Given the description of an element on the screen output the (x, y) to click on. 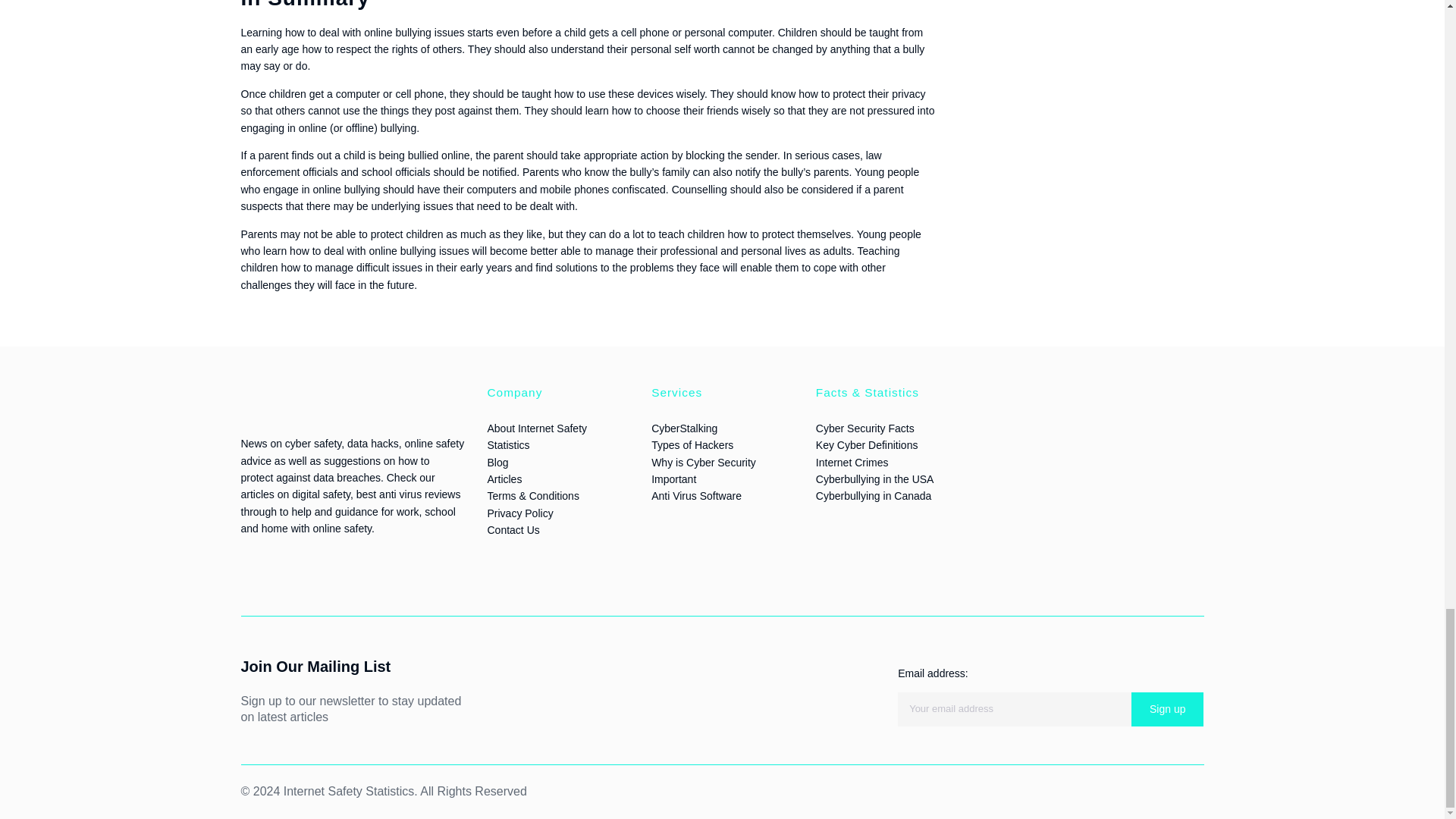
Contact Us (512, 530)
Articles (503, 479)
Blog (497, 462)
CyberStalking (683, 428)
About Internet Safety Statistics (536, 436)
Why is Cyber Security Important (702, 470)
Internet Crimes (851, 462)
Cyberbullying in Canada (873, 495)
Cyberbullying in the USA (874, 479)
Types of Hackers (691, 444)
